Given the description of an element on the screen output the (x, y) to click on. 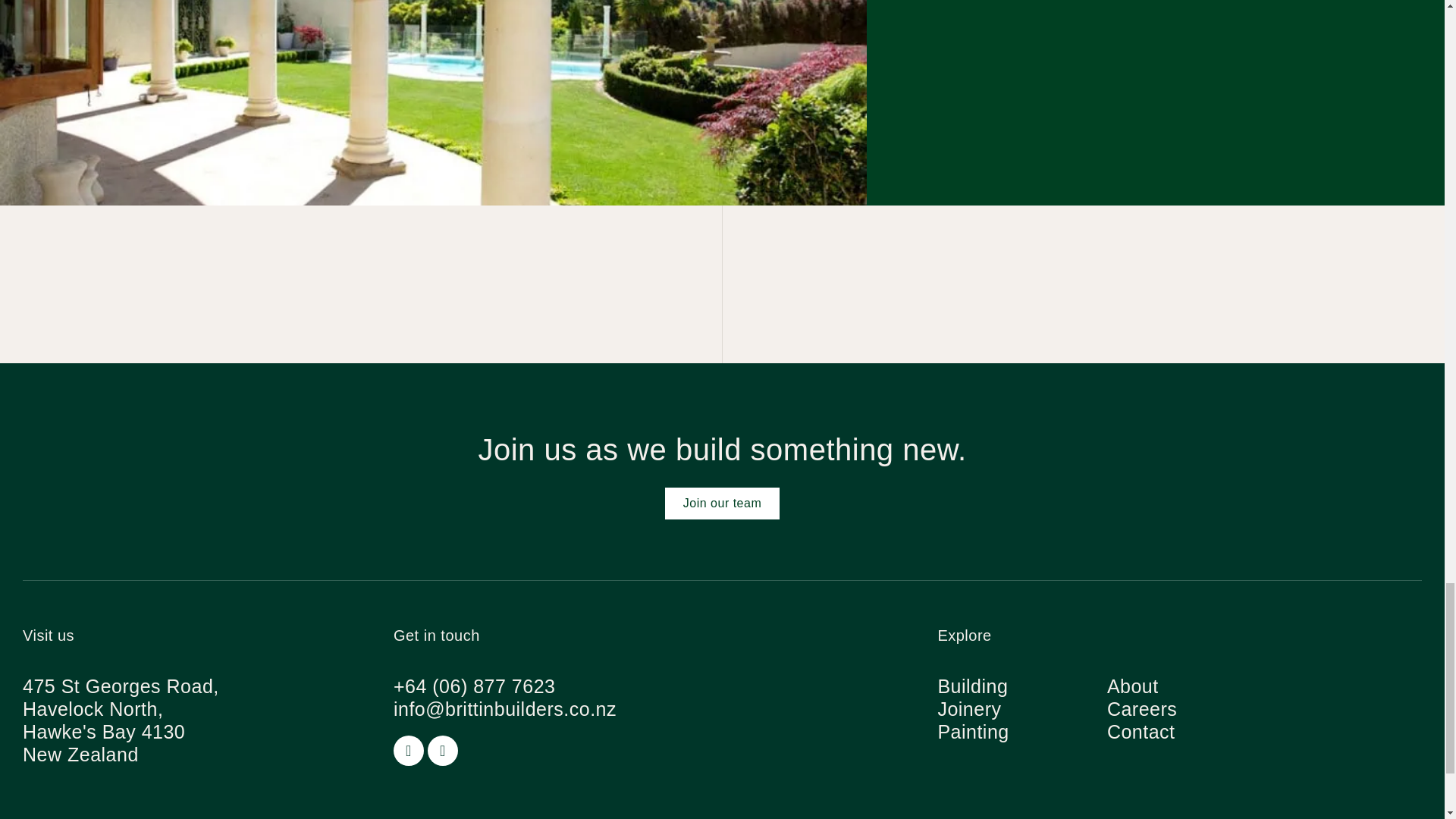
Building (972, 685)
Join our team (721, 503)
